Given the description of an element on the screen output the (x, y) to click on. 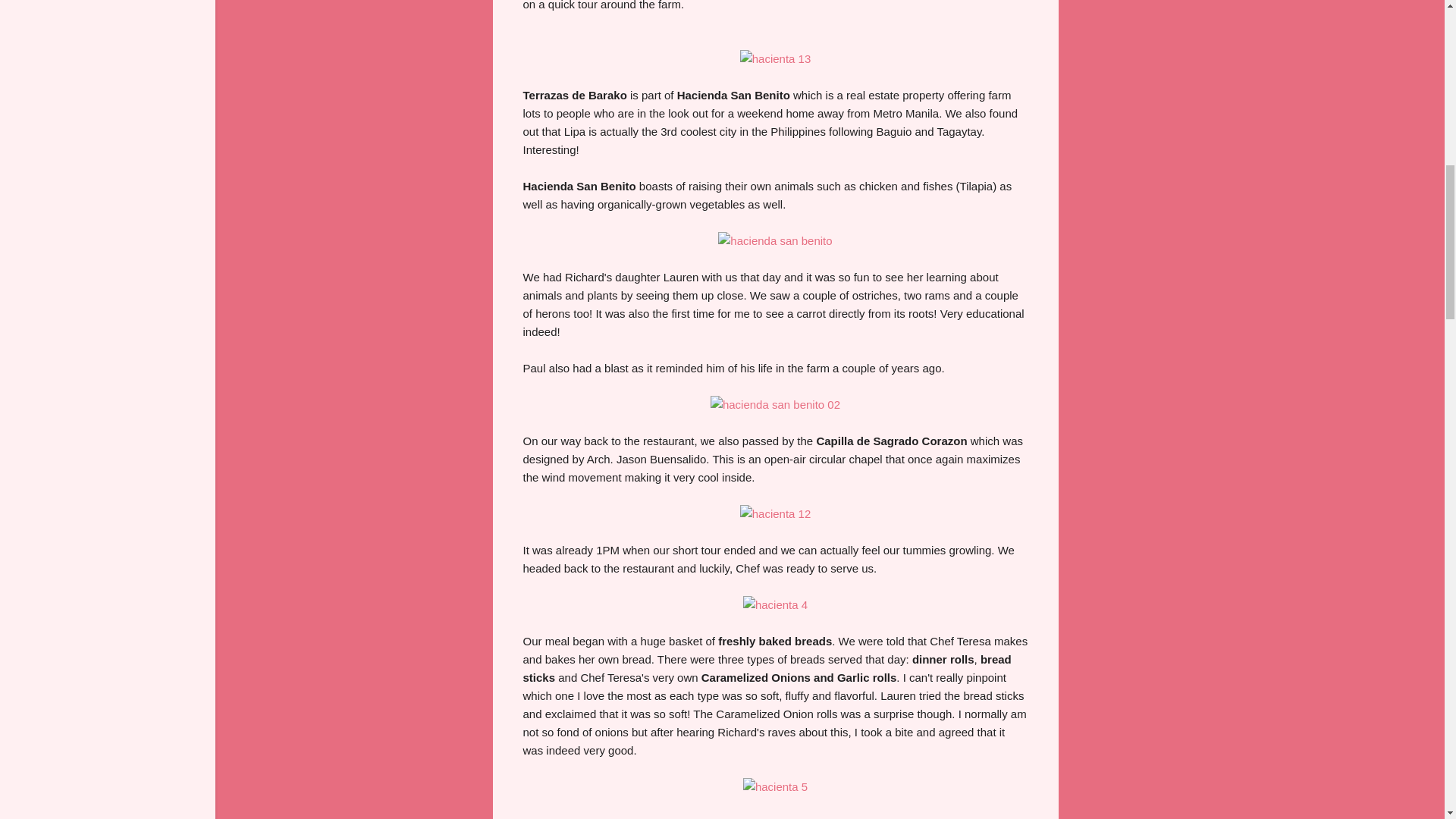
hacienta 4 by frannywanny, on Flickr (775, 604)
hacienda san benito by frannywanny, on Flickr (774, 240)
hacienta 12 by frannywanny, on Flickr (774, 513)
hacienda san benito 02 by frannywanny, on Flickr (775, 404)
hacienta 13 by frannywanny, on Flickr (774, 58)
